Given the description of an element on the screen output the (x, y) to click on. 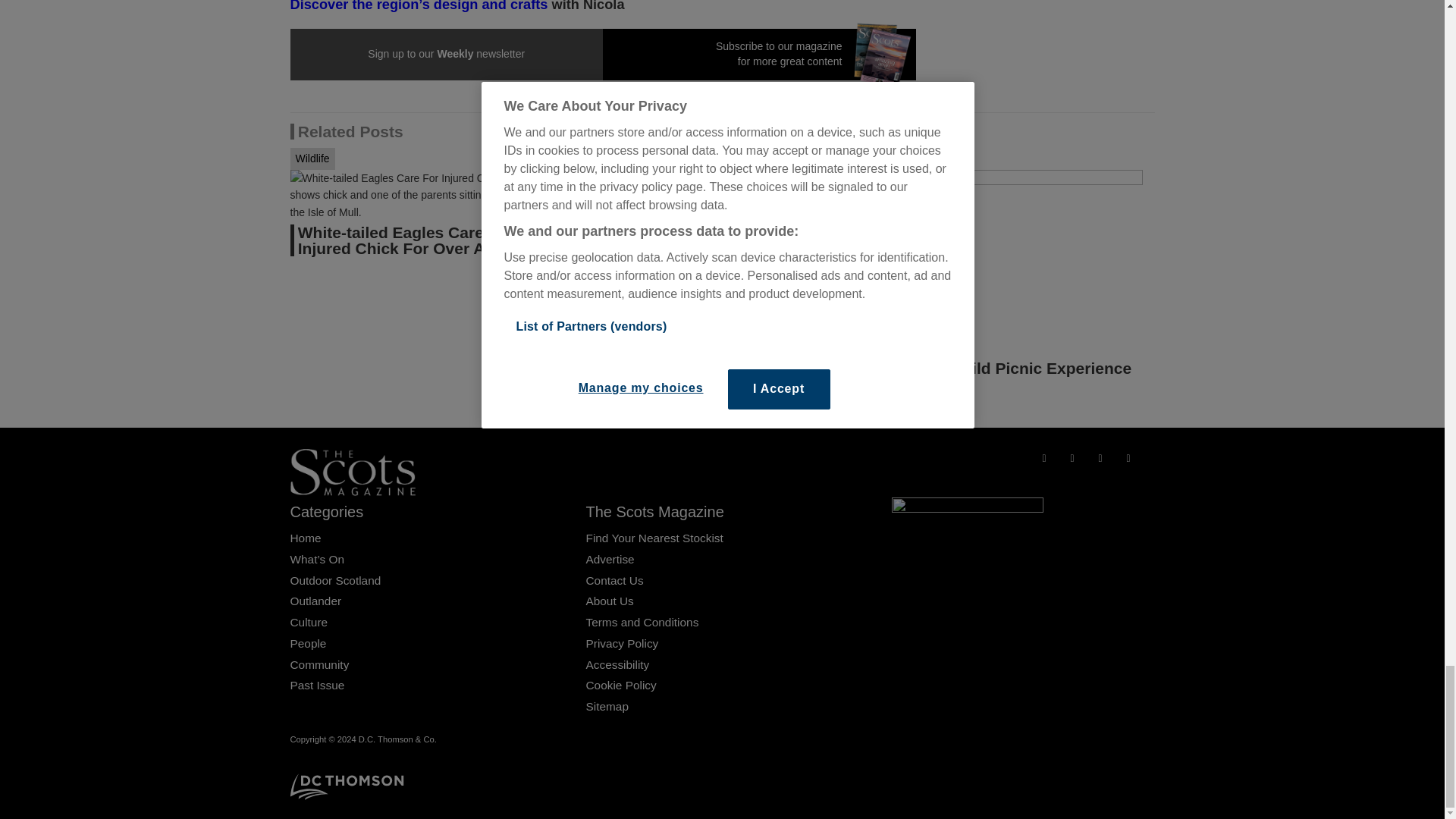
The Scots Magazine (351, 472)
